Given the description of an element on the screen output the (x, y) to click on. 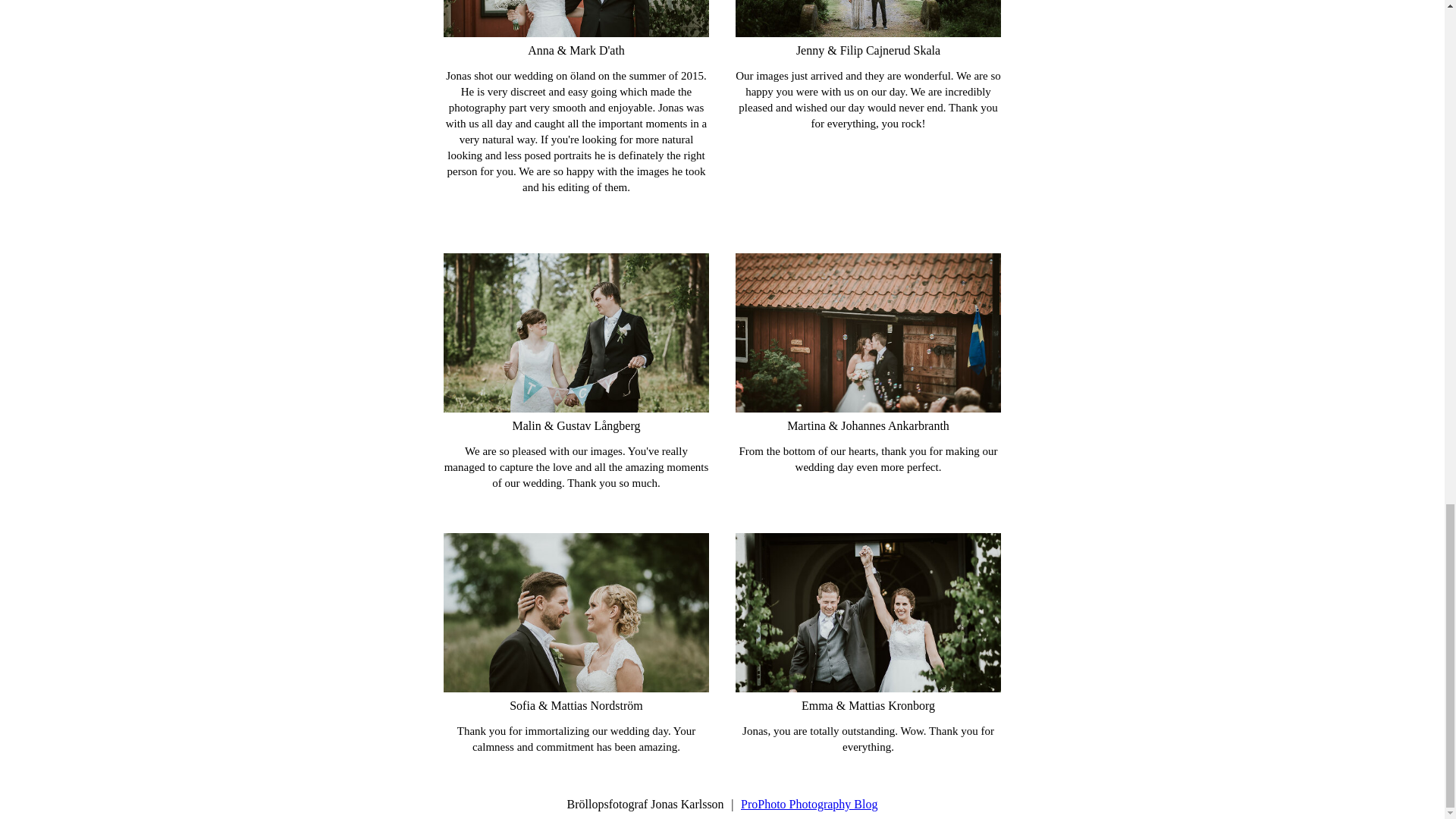
ProPhoto Photography Blog (809, 803)
ProPhoto7 Blog (809, 803)
